Given the description of an element on the screen output the (x, y) to click on. 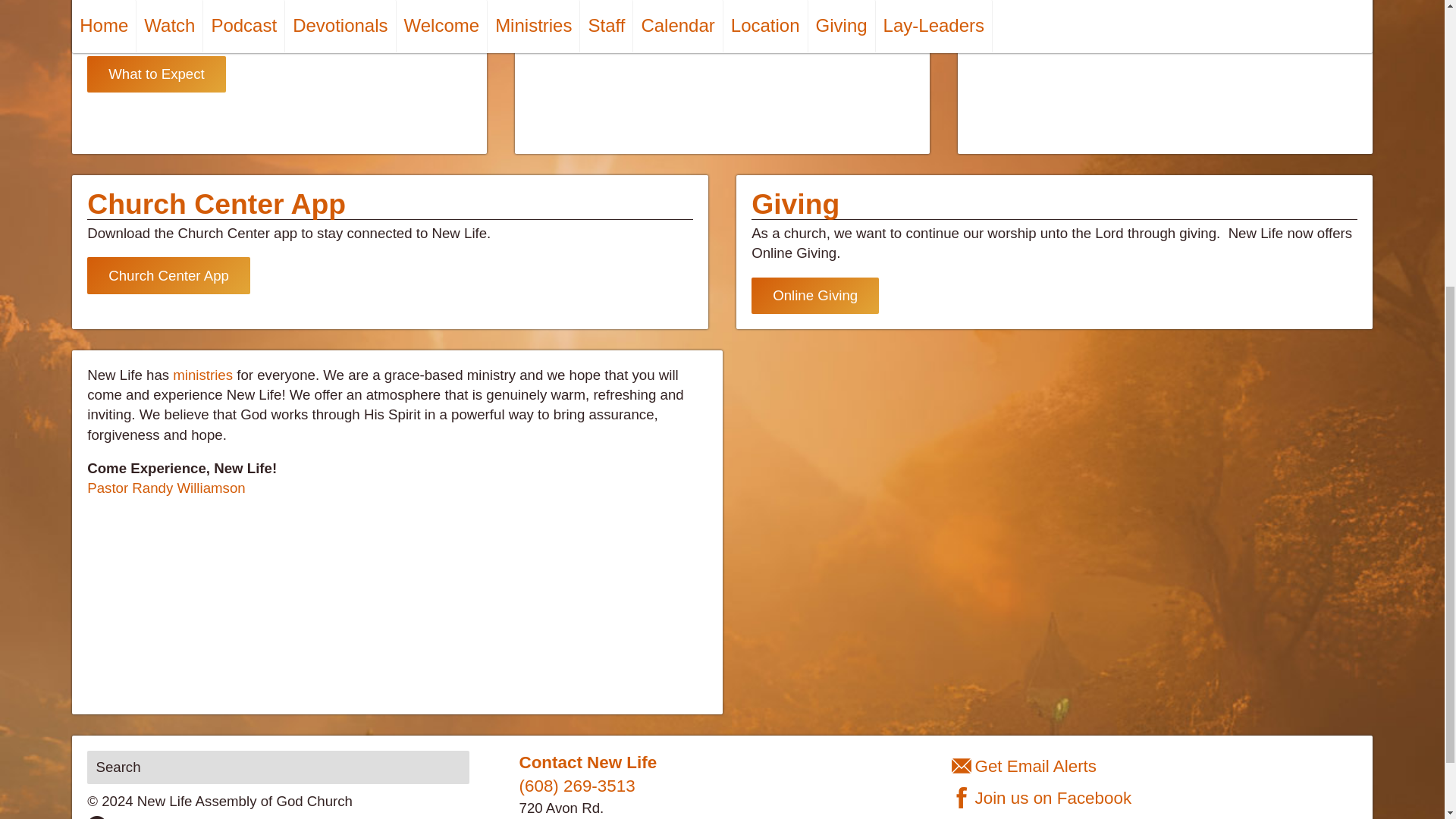
Search (277, 767)
Online Giving (815, 295)
Pastor Randy Williamson (165, 487)
Search (277, 767)
Kids Church (129, 11)
Church Center App (216, 204)
To the Point - "Trusting in the Lord" (1164, 62)
Church Center App (168, 275)
ministries (202, 374)
